Given the description of an element on the screen output the (x, y) to click on. 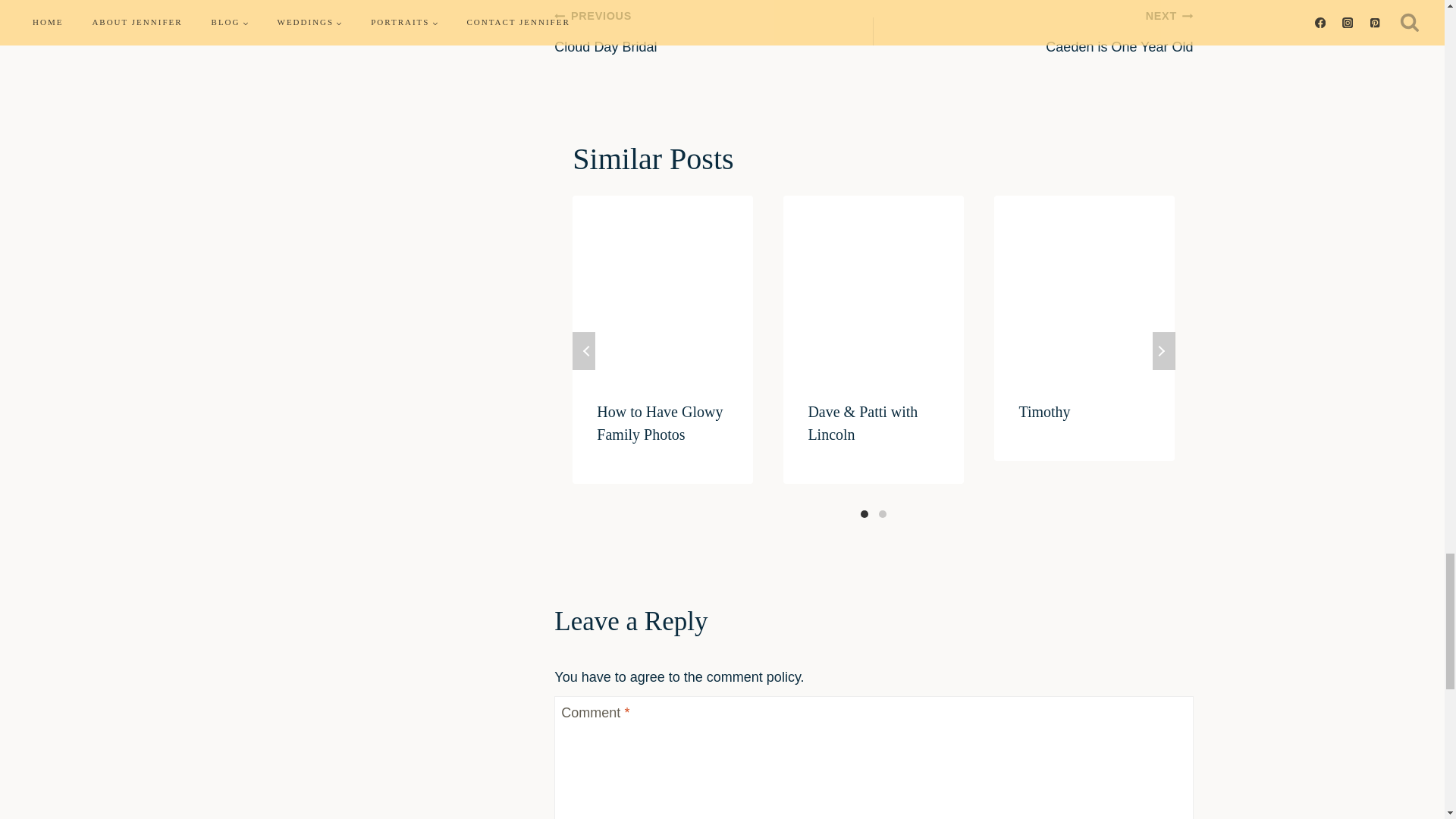
How to Have Glowy Family Photos (1032, 30)
